Given the description of an element on the screen output the (x, y) to click on. 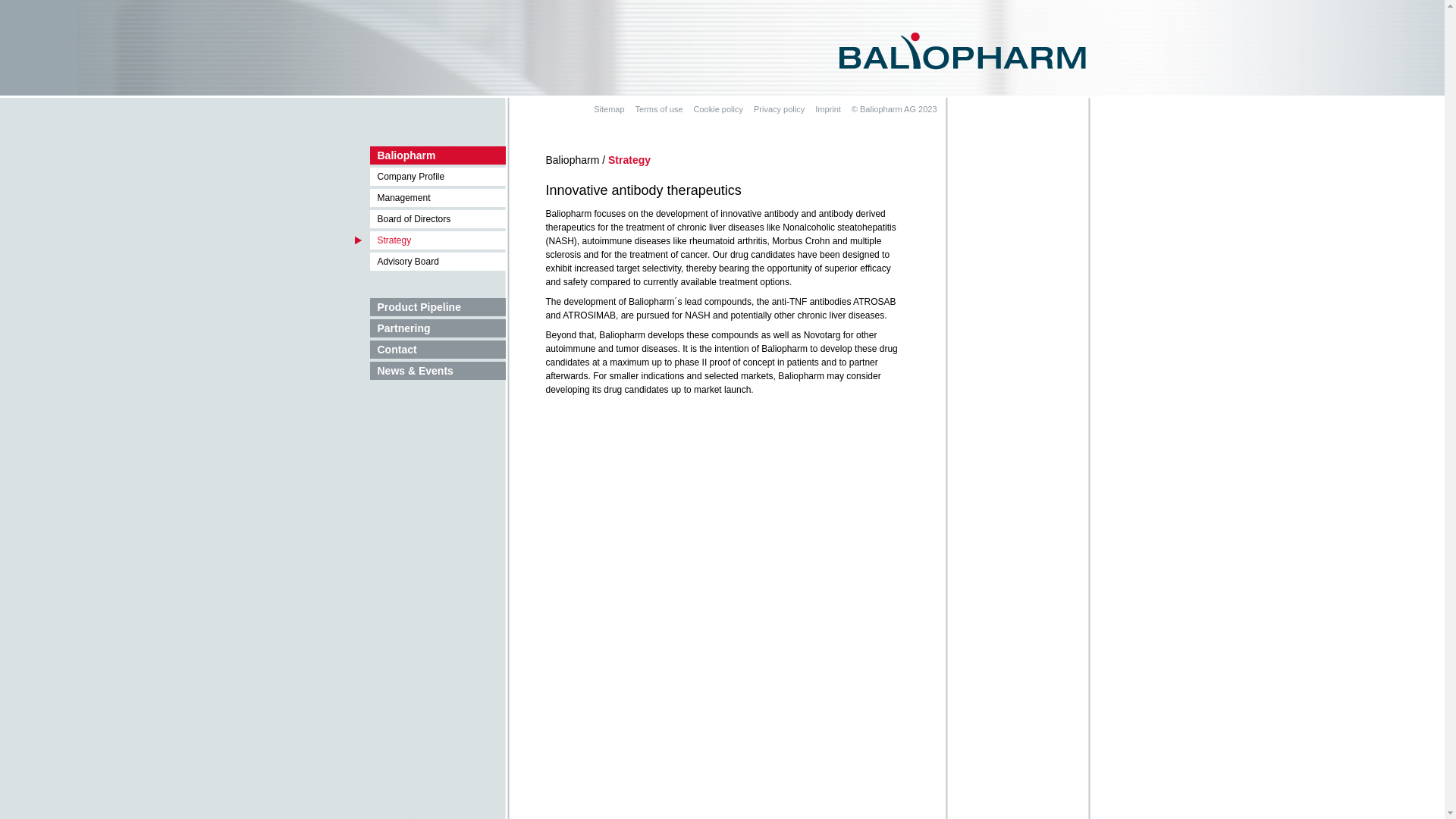
Board of Directors Element type: text (429, 219)
Management Element type: text (429, 197)
Privacy policy Element type: text (778, 109)
Cookie policy Element type: text (718, 109)
Baliopharm Element type: text (429, 155)
Product Pipeline Element type: text (429, 307)
Strategy Element type: text (429, 240)
Partnering Element type: text (429, 328)
Baliopharm Element type: hover (962, 49)
Advisory Board Element type: text (429, 261)
Company Profile Element type: text (429, 176)
Contact Element type: text (429, 349)
News & Events Element type: text (429, 370)
Sitemap Element type: text (608, 109)
Imprint Element type: text (827, 109)
Terms of use Element type: text (659, 109)
